Given the description of an element on the screen output the (x, y) to click on. 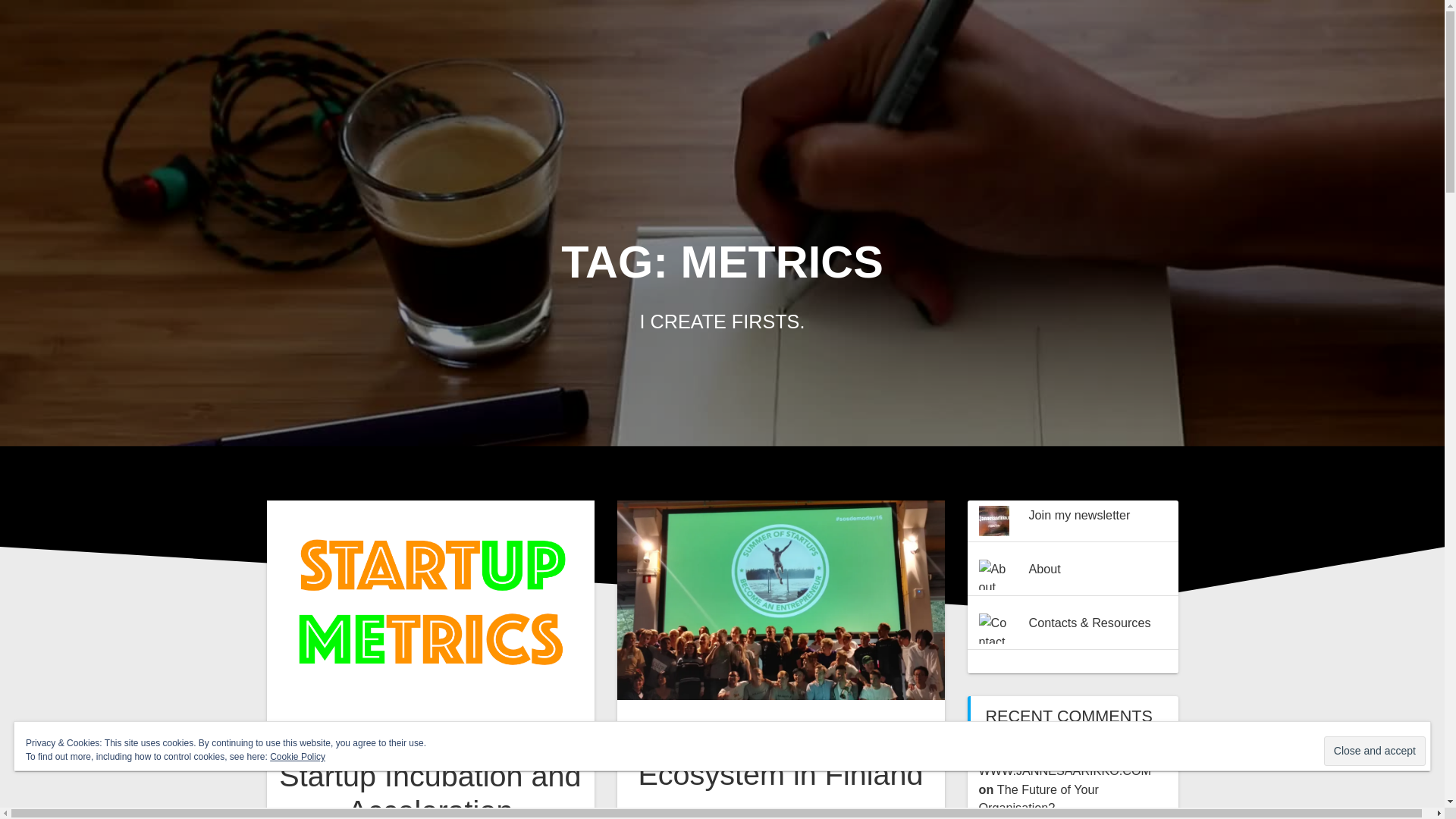
SMART T-SHIRTS (1160, 104)
WWW.JANNESAARIKKO.COM (326, 68)
THE REINVENTION CHALLENGE (919, 104)
SUOMEKSI (1311, 104)
State of the Startup Ecosystem in Finland (780, 756)
Building Metrics for Startup Incubation and Acceleration (429, 771)
JOIN MY NEWSLETTER (1259, 34)
Close and accept (1374, 750)
